Given the description of an element on the screen output the (x, y) to click on. 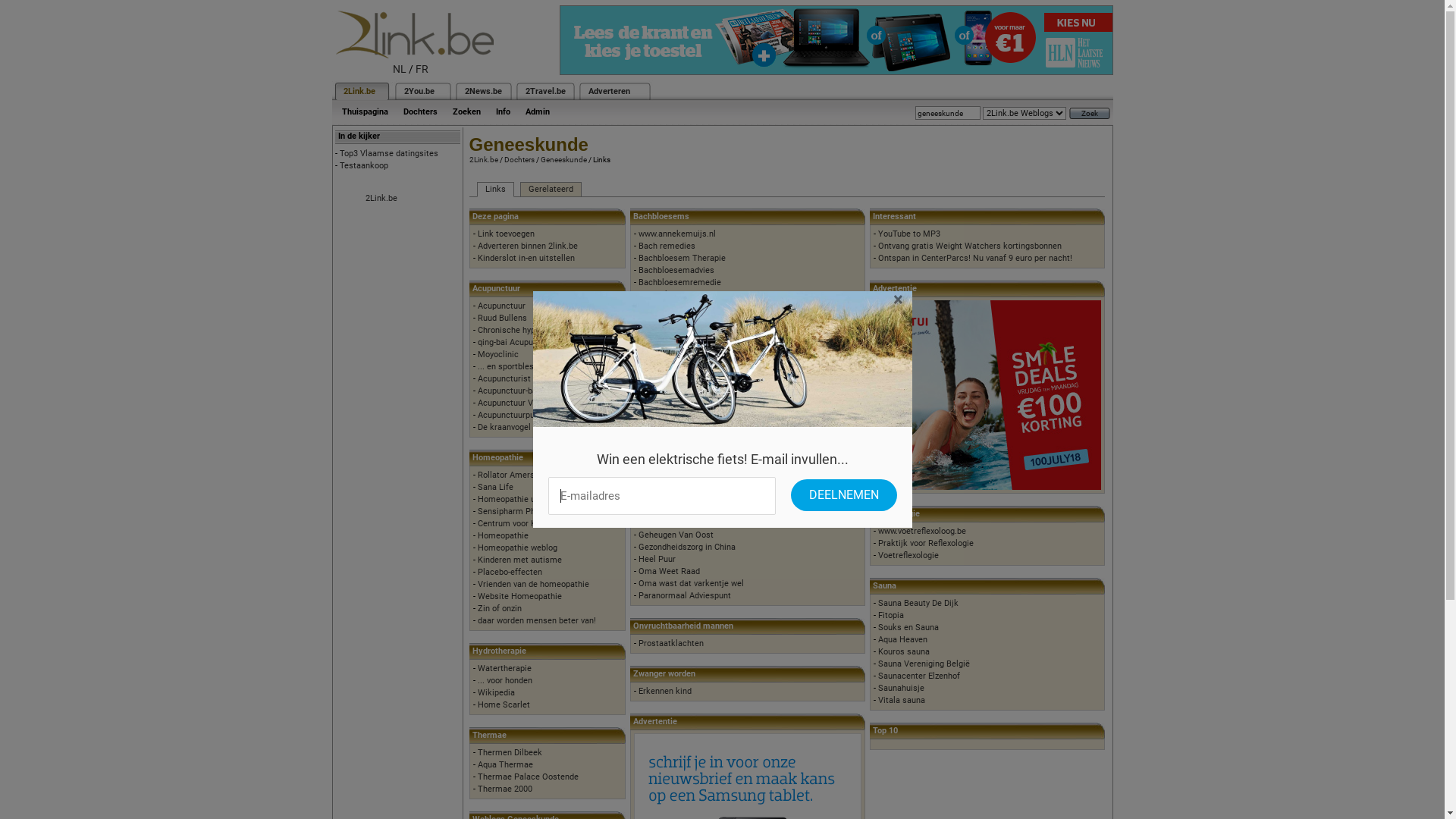
Forum Bachbloesems Element type: text (679, 306)
Kinderen met autisme Element type: text (519, 559)
Vrienden van de homeopathie Element type: text (533, 584)
Rollator Amersfoort Element type: text (514, 475)
Saunacenter Elzenhof Element type: text (919, 675)
2You.be Element type: text (418, 91)
... en sportblessures Element type: text (516, 366)
Acupuncturist Element type: text (503, 378)
Gerelateerd Element type: text (550, 189)
Ontspan in CenterParcs! Nu vanaf 9 euro per nacht! Element type: text (975, 258)
Dochters Element type: text (518, 159)
Thuispagina Element type: text (364, 111)
Stress Element type: text (650, 330)
Gezondheidszorg in China Element type: text (686, 547)
YouTube to MP3 Element type: text (909, 233)
Geneeskunde Element type: text (562, 159)
Zin of onzin Element type: text (499, 608)
Souks en Sauna Element type: text (908, 627)
Acupunctuur Vereniging Element type: text (522, 402)
Dochters Element type: text (420, 111)
Centrum voor Klassieke Homeopathie Element type: text (549, 523)
Praktijk voor Reflexologie Element type: text (925, 543)
Test Point Zelftesten Element type: text (678, 522)
Info Element type: text (502, 111)
Thermen Dilbeek Element type: text (509, 752)
Lichttherapie Element type: text (663, 486)
Zoek Element type: text (1089, 113)
Admin Element type: text (536, 111)
Testaankoop Element type: text (363, 165)
Saunahuisje Element type: text (901, 688)
Acupunctuur-baf.be Element type: text (514, 390)
Geheugen Van Oost Element type: text (675, 534)
Sana Life Element type: text (495, 487)
2Link.be Element type: text (358, 91)
Fitopia Element type: text (890, 615)
www.voetreflexoloog.be Element type: text (922, 531)
Links Element type: text (494, 189)
Thermae Palace Oostende Element type: text (527, 776)
Bosrank Element type: text (653, 294)
Aqua Heaven Element type: text (902, 639)
Top3 Vlaamse datingsites Element type: text (388, 153)
Voetreflexologie Element type: text (908, 555)
Link toevoegen Element type: text (505, 233)
q koorts tekenziekte Element type: text (676, 438)
Oma wast dat varkentje wel Element type: text (690, 583)
Sensipharm Pharmaceutica Element type: text (530, 511)
Placebo-effecten Element type: text (509, 572)
Heel Puur Element type: text (656, 559)
Adverteren binnen 2link.be Element type: text (527, 246)
Prostaatklachten Element type: text (670, 643)
Thermae 2000 Element type: text (504, 788)
2Link.be Element type: text (482, 159)
Moyoclinic Element type: text (497, 354)
The secret garden Element type: text (672, 343)
Zoeken Element type: text (465, 111)
... voor honden Element type: text (504, 680)
Homeopathie Element type: text (502, 535)
Home Scarlet Element type: text (503, 704)
Acupunctuurpunten Element type: text (514, 415)
Kinderslot in-en uitstellen Element type: text (525, 258)
Watertherapie Element type: text (504, 668)
Bach remedies Element type: text (666, 246)
Adverteren Element type: text (609, 91)
daar worden mensen beter van! Element type: text (536, 620)
Homeopathie uitgelegd Element type: text (521, 499)
Sauna Beauty De Dijk Element type: text (918, 603)
Bachbloesemadvies Element type: text (676, 270)
De kraanvogel Element type: text (503, 427)
www.annekemuijs.nl Element type: text (676, 233)
Vitala sauna Element type: text (901, 700)
Paranormaal Adviespunt Element type: text (684, 595)
Bedrijfshulpverlener cursus Element type: text (690, 390)
2News.be Element type: text (482, 91)
Bachbloesemremedie Element type: text (679, 282)
Star Remedies Element type: text (666, 318)
Acupunctuur Element type: text (501, 305)
Ruud Bullens Element type: text (502, 318)
2Link.be Element type: text (381, 198)
Bloeddrukmeter Element type: text (668, 510)
2Travel.be Element type: text (544, 91)
Oma Weet Raad Element type: text (668, 571)
Kouros sauna Element type: text (903, 651)
Aqua Thermae Element type: text (505, 764)
Bachbloesem Therapie Element type: text (681, 258)
Website Homeopathie Element type: text (519, 596)
Chronische hyperventilatie Element type: text (527, 330)
qing-bai Acupunctuur Element type: text (517, 342)
Erkennen kind Element type: text (664, 691)
Wikipedia Element type: text (495, 692)
FR Element type: text (421, 68)
NL Element type: text (399, 68)
Homeopathie weblog Element type: text (517, 547)
Ontvang gratis Weight Watchers kortingsbonnen Element type: text (969, 246)
Bloeddruk meten Element type: text (670, 498)
